Given the description of an element on the screen output the (x, y) to click on. 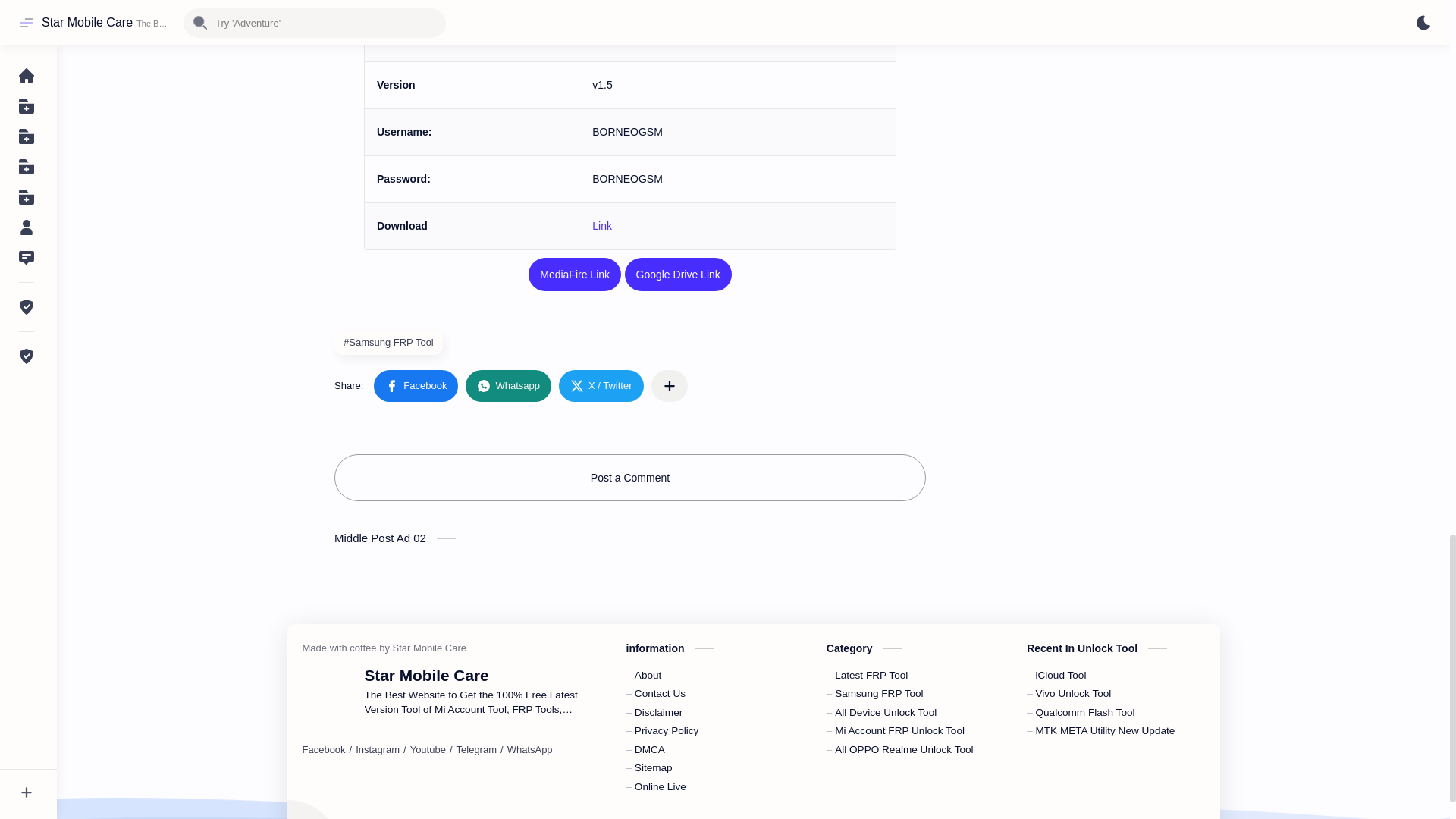
Link (601, 225)
MediaFire Link (574, 274)
Google Drive Link (678, 274)
